Given the description of an element on the screen output the (x, y) to click on. 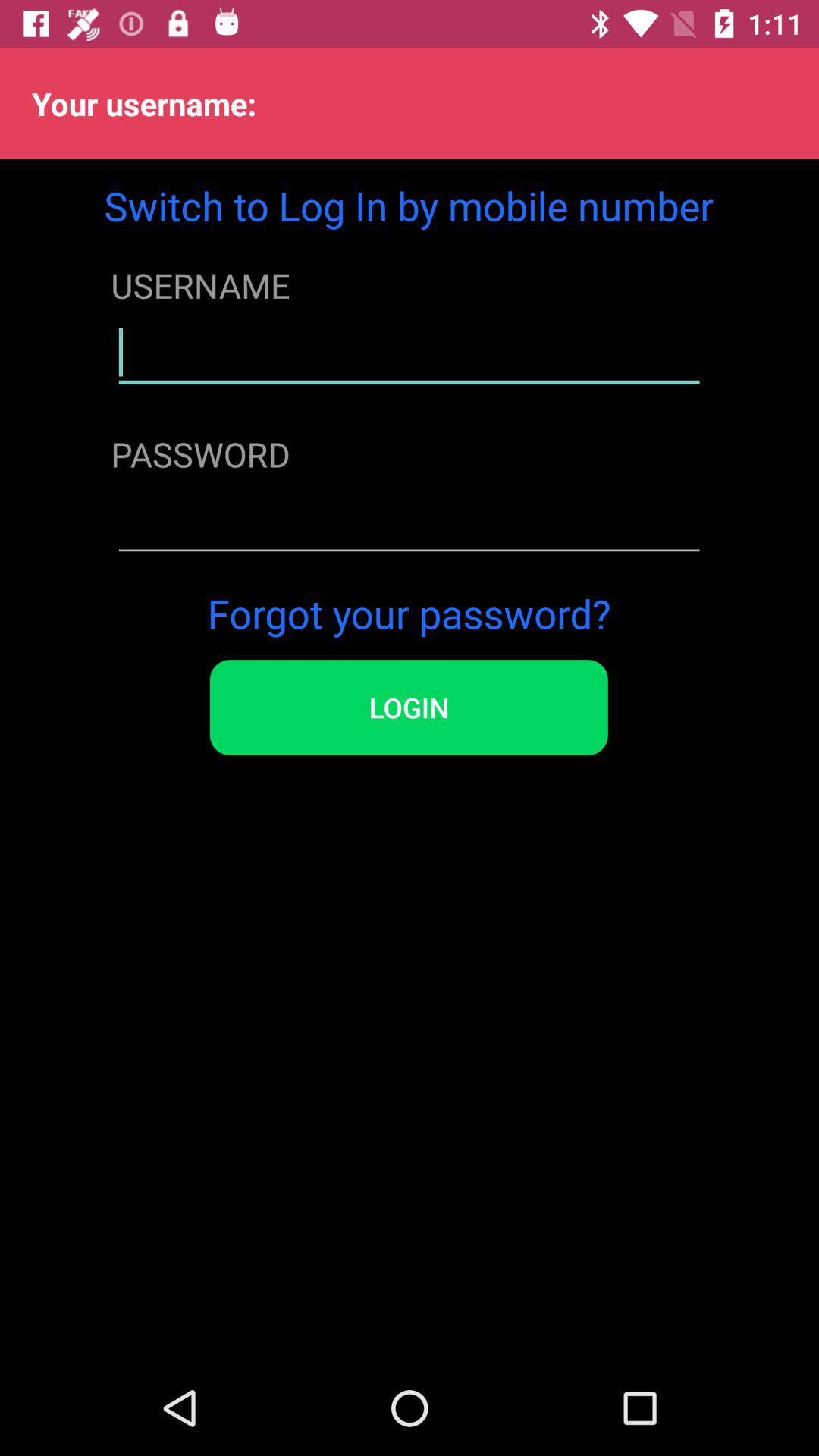
jump to switch to log item (408, 205)
